Given the description of an element on the screen output the (x, y) to click on. 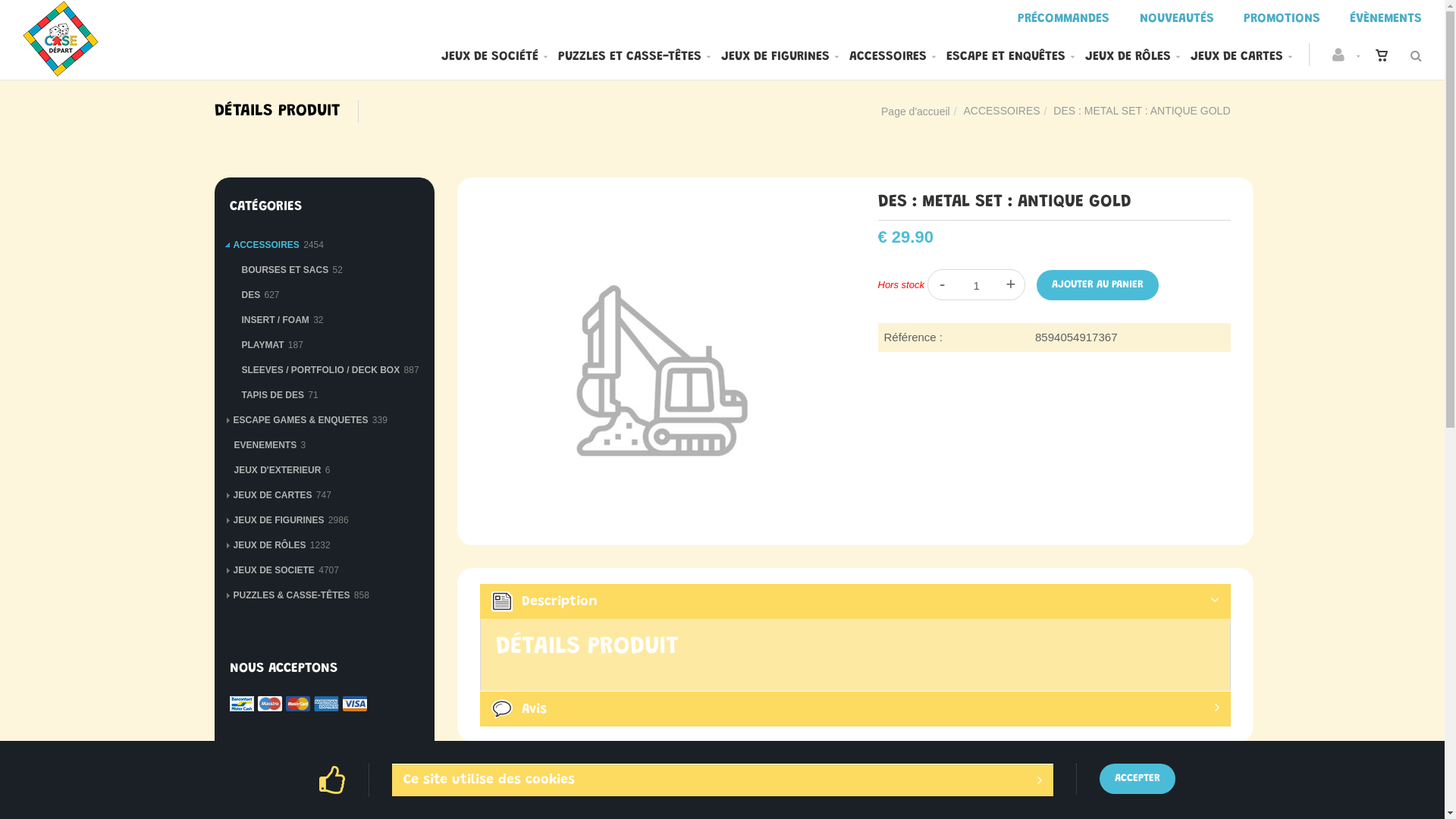
SLEEVES / PORTFOLIO / DECK BOX Element type: text (320, 369)
JEUX DE CARTES Element type: text (1241, 56)
ESCAPE GAMES & ENQUETES Element type: text (300, 419)
- Element type: text (942, 283)
TAPIS DE DES Element type: text (272, 394)
JEUX DE CARTES Element type: text (272, 494)
JEUX D'EXTERIEUR Element type: text (276, 469)
JEUX DE FIGURINES Element type: text (278, 519)
JEUX DE SOCIETE Element type: text (273, 569)
DES : METAL SET : ANTIQUE GOLD Element type: hover (655, 202)
Page d'accueil Element type: text (915, 111)
Avis Element type: text (854, 708)
+ Element type: text (1010, 283)
PLAYMAT Element type: text (262, 344)
INSERT / FOAM Element type: text (274, 319)
PROMOTIONS Element type: text (1281, 19)
ACCEPTER Element type: text (1137, 778)
Description Element type: text (854, 600)
Ce site utilise des cookies Element type: text (722, 779)
EVENEMENTS Element type: text (264, 444)
JEUX DE FIGURINES Element type: text (779, 56)
ACCESSOIRES Element type: text (1001, 110)
ACCESSOIRES Element type: text (892, 56)
ACCESSOIRES Element type: text (266, 244)
Ajouter au Panier Element type: text (1097, 284)
BOURSES ET SACS Element type: text (284, 269)
DES Element type: text (250, 294)
